Given the description of an element on the screen output the (x, y) to click on. 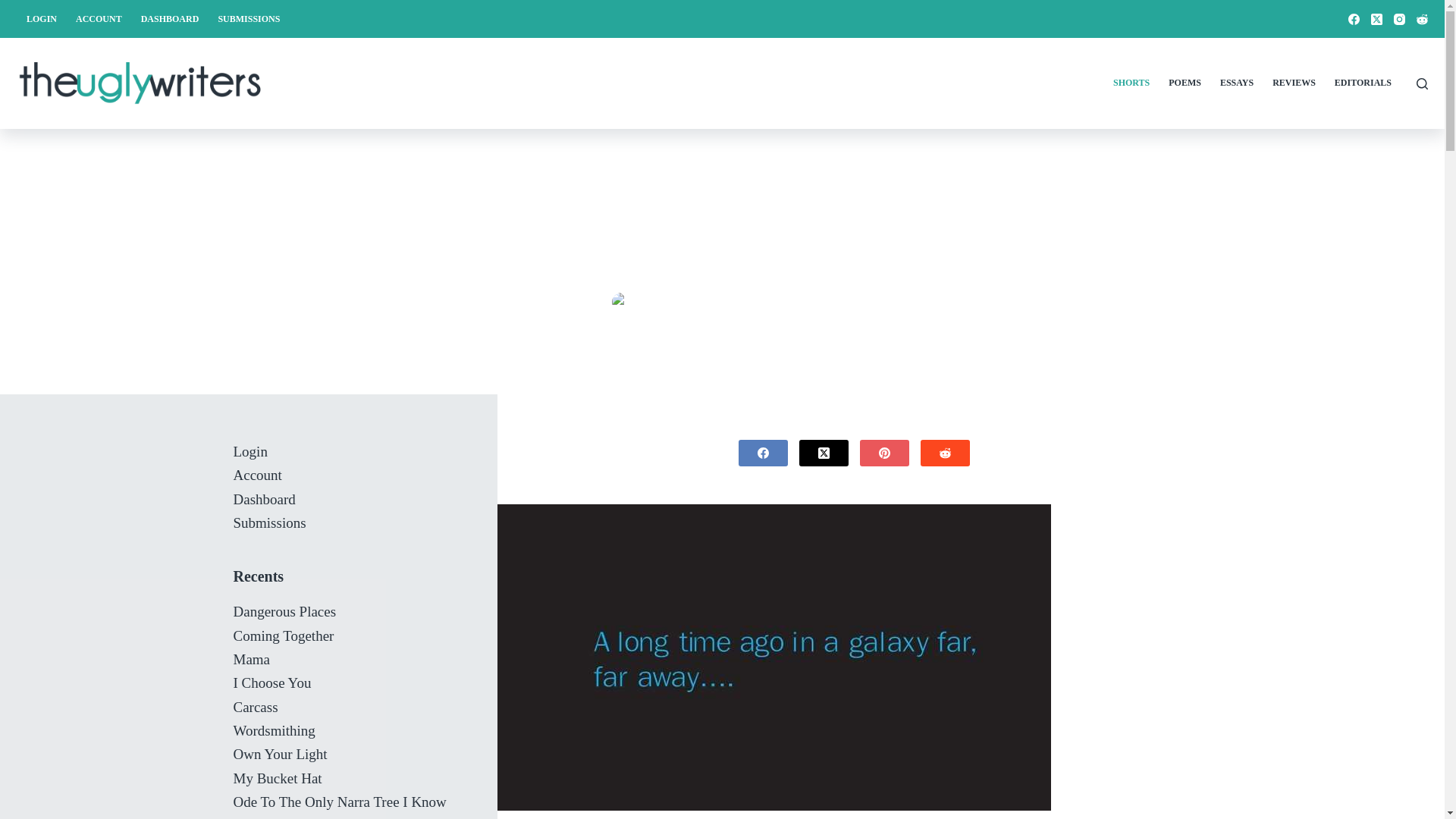
Skip to content (15, 7)
GUEST POST (663, 302)
SUBMISSIONS (248, 18)
LOGIN (40, 18)
DASHBOARD (169, 18)
SHORTS (814, 302)
Posts by Guest Post (663, 302)
ACCOUNT (99, 18)
